Given the description of an element on the screen output the (x, y) to click on. 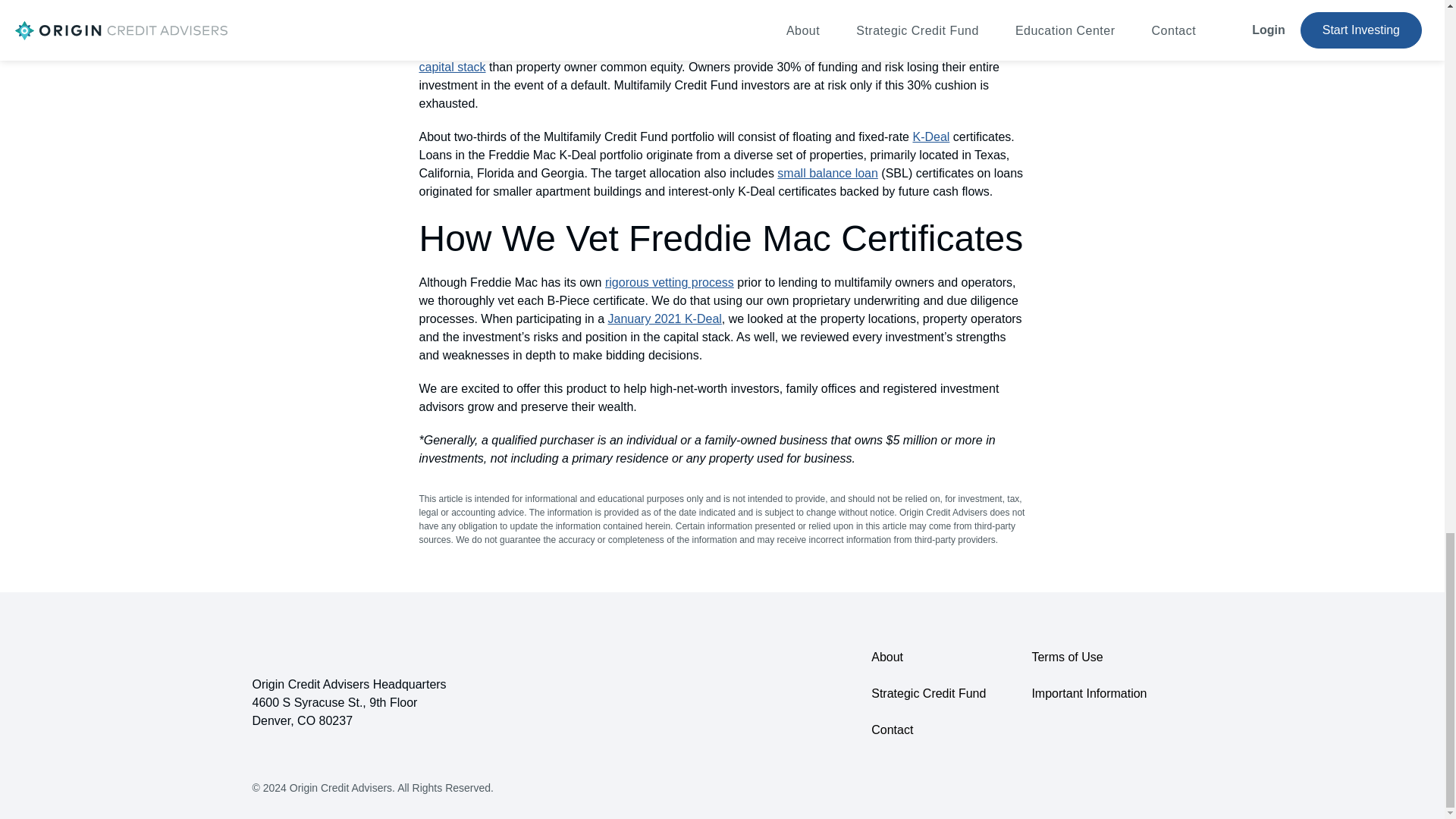
January 2021 K-Deal (665, 318)
Terms of Use (1088, 657)
Important Information (1088, 693)
K-Deal (930, 136)
lower in the capital stack (708, 57)
small balance loan (827, 173)
Strategic Credit Fund (927, 693)
About (927, 657)
Contact (927, 730)
a B-Piece (545, 48)
rigorous vetting process (669, 282)
